Given the description of an element on the screen output the (x, y) to click on. 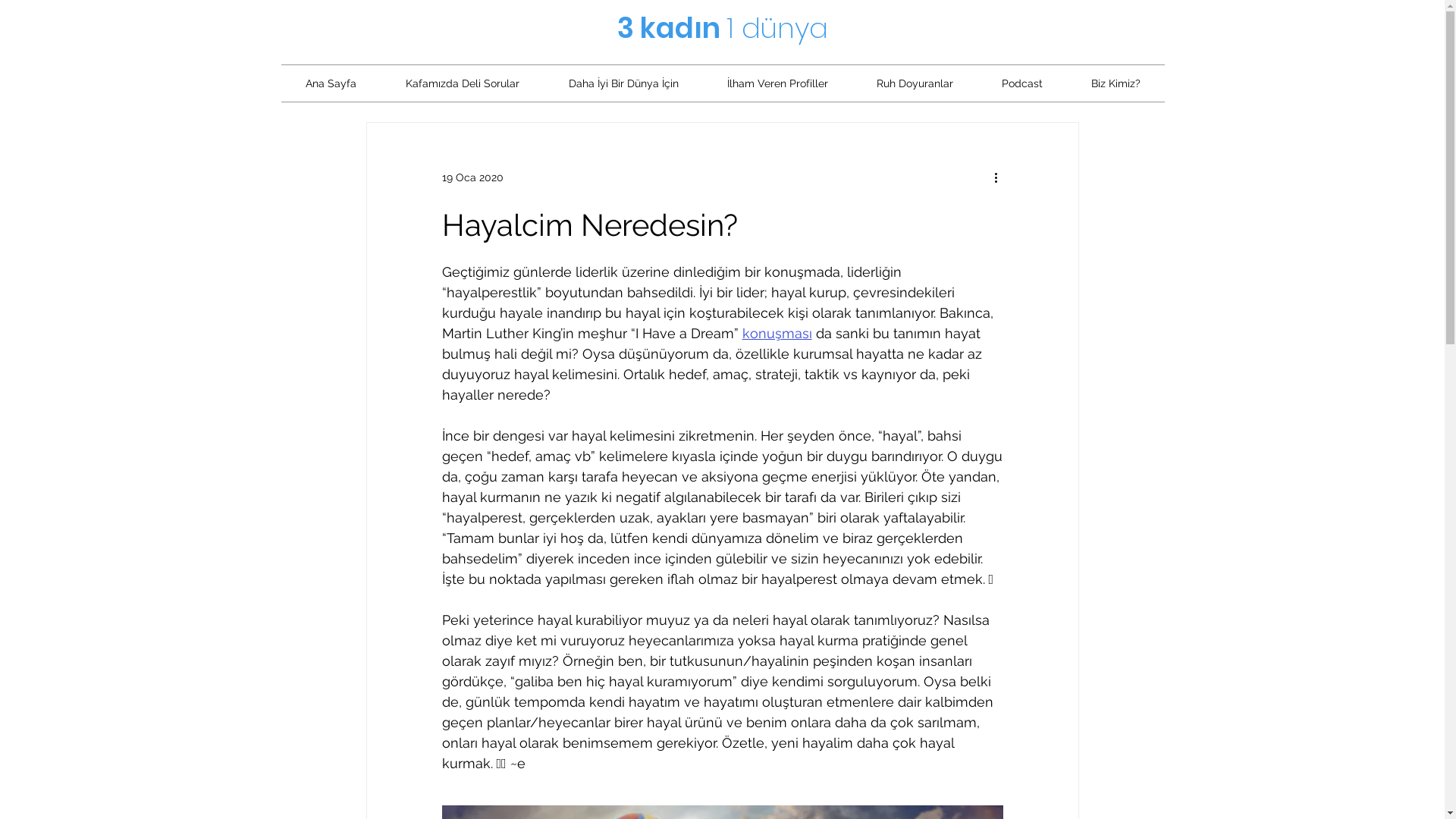
Biz Kimiz? Element type: text (1115, 83)
Podcast Element type: text (1021, 83)
Ana Sayfa Element type: text (330, 83)
Ruh Doyuranlar Element type: text (914, 83)
